Given the description of an element on the screen output the (x, y) to click on. 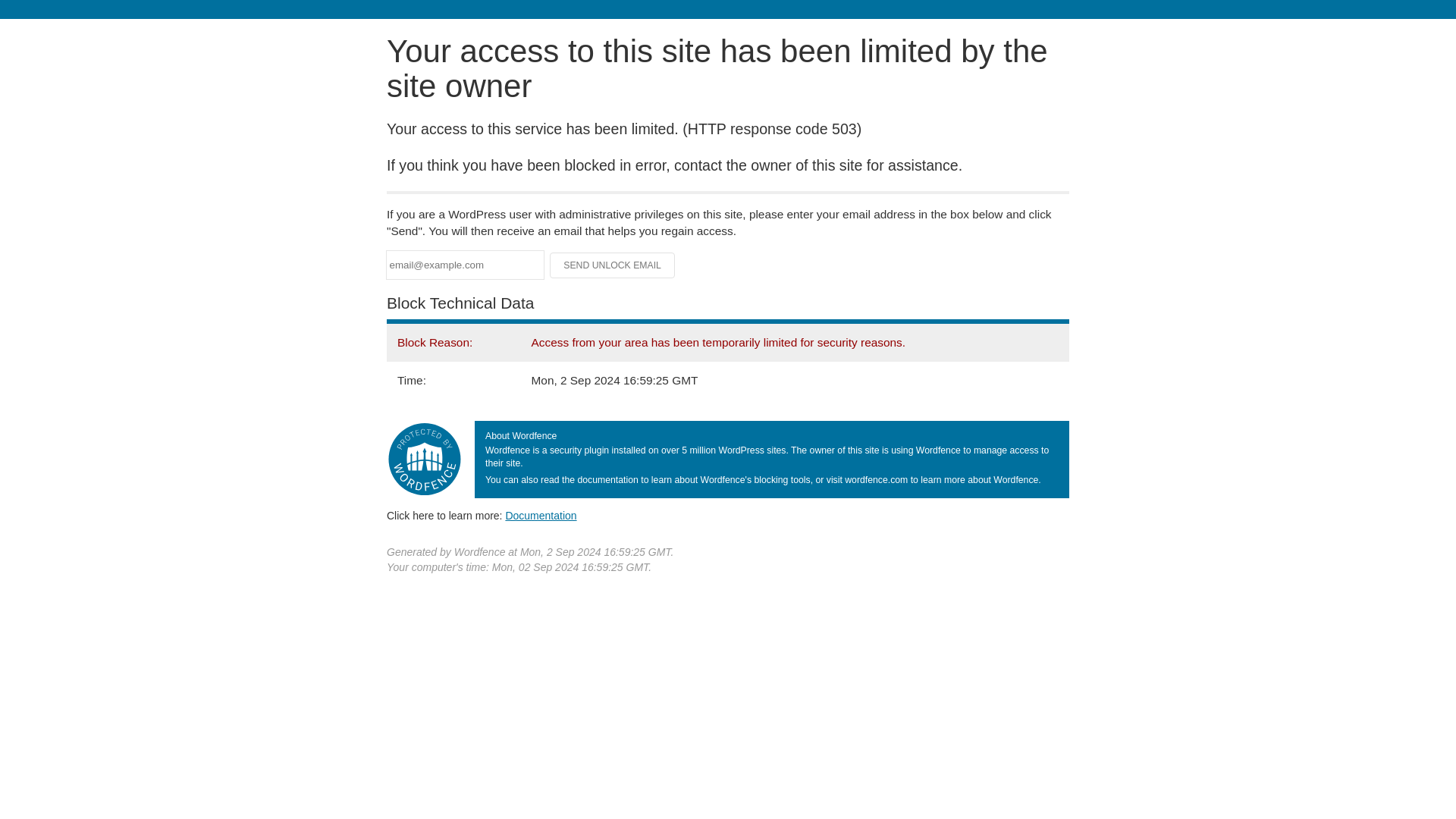
Documentation (540, 515)
Send Unlock Email (612, 265)
Send Unlock Email (612, 265)
